Given the description of an element on the screen output the (x, y) to click on. 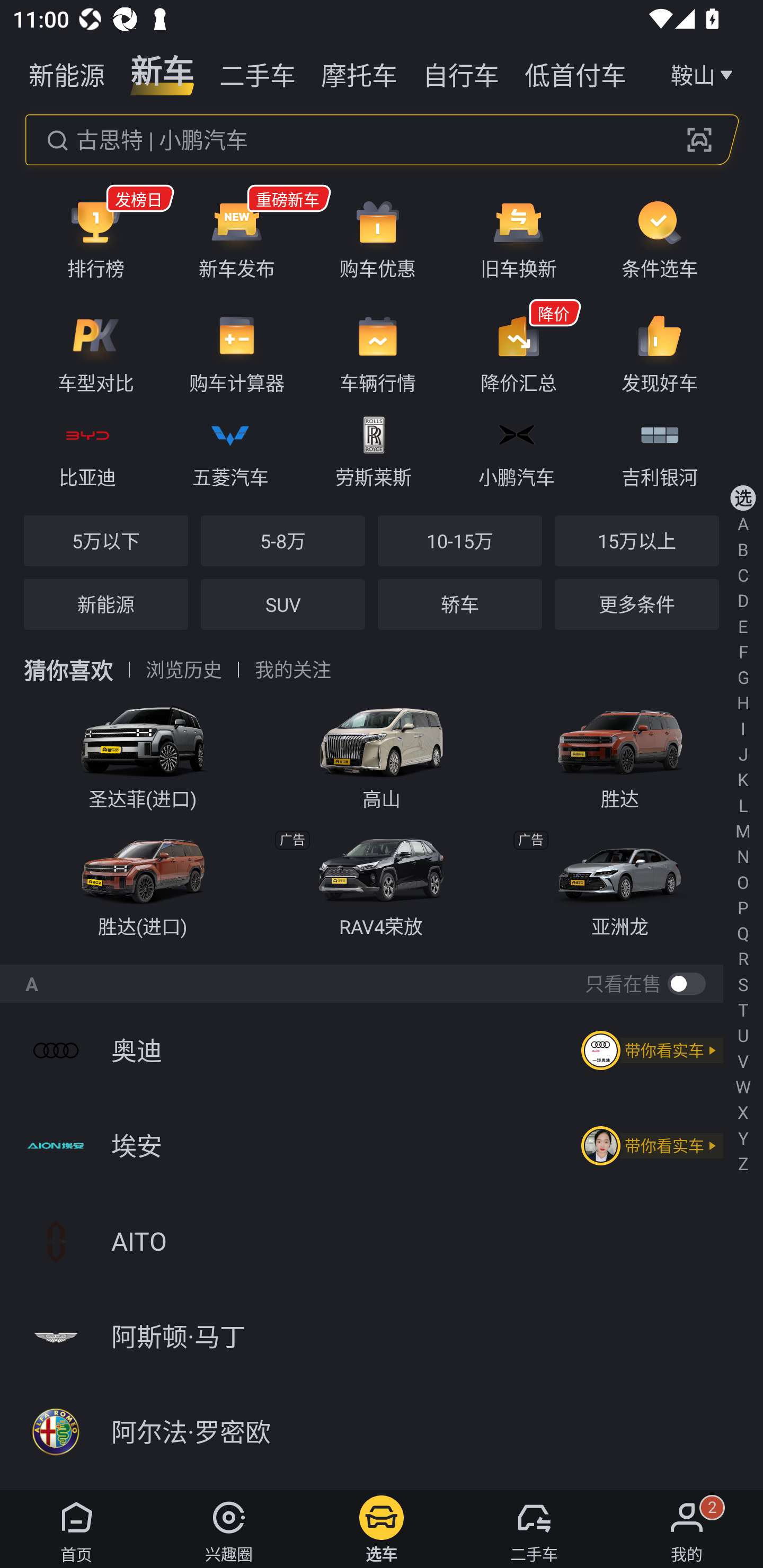
新能源 (66, 72)
新车 (161, 72)
二手车 (257, 72)
摩托车 (359, 72)
自行车 (460, 72)
低首付车 (575, 72)
鞍山 (703, 72)
发榜日 排行榜 (95, 238)
重磅新车 新车发布 (236, 238)
购车优惠 (377, 238)
旧车换新 (518, 238)
条件选车 (659, 238)
车型对比 (95, 352)
购车计算器 (236, 352)
车辆行情 (377, 352)
降价 降价汇总 (518, 352)
发现好车 (659, 352)
比亚迪 (87, 449)
五菱汽车 (230, 449)
劳斯莱斯 (373, 449)
小鹏汽车 (516, 449)
吉利银河 (659, 449)
5万以下 (105, 540)
5-8万 (282, 540)
10-15万 (459, 540)
15万以上 (636, 540)
新能源 (105, 604)
SUV (282, 604)
轿车 (459, 604)
更多条件 (636, 604)
猜你喜欢 (67, 669)
浏览历史 (183, 669)
我的关注 (292, 669)
圣达菲(进口) (142, 750)
高山 (381, 750)
胜达 (619, 750)
胜达(进口) (142, 881)
RAV4荣放 广告 (381, 881)
亚洲龙 广告 (619, 881)
奥迪 带你看实车  (381, 1050)
带你看实车  (649, 1050)
埃安 带你看实车  (381, 1145)
带你看实车  (649, 1146)
AITO (381, 1240)
阿斯顿·马丁 (381, 1336)
阿尔法·罗密欧 (381, 1432)
 首页 (76, 1528)
 兴趣圈 (228, 1528)
选车 (381, 1528)
 二手车 (533, 1528)
 我的 (686, 1528)
